Given the description of an element on the screen output the (x, y) to click on. 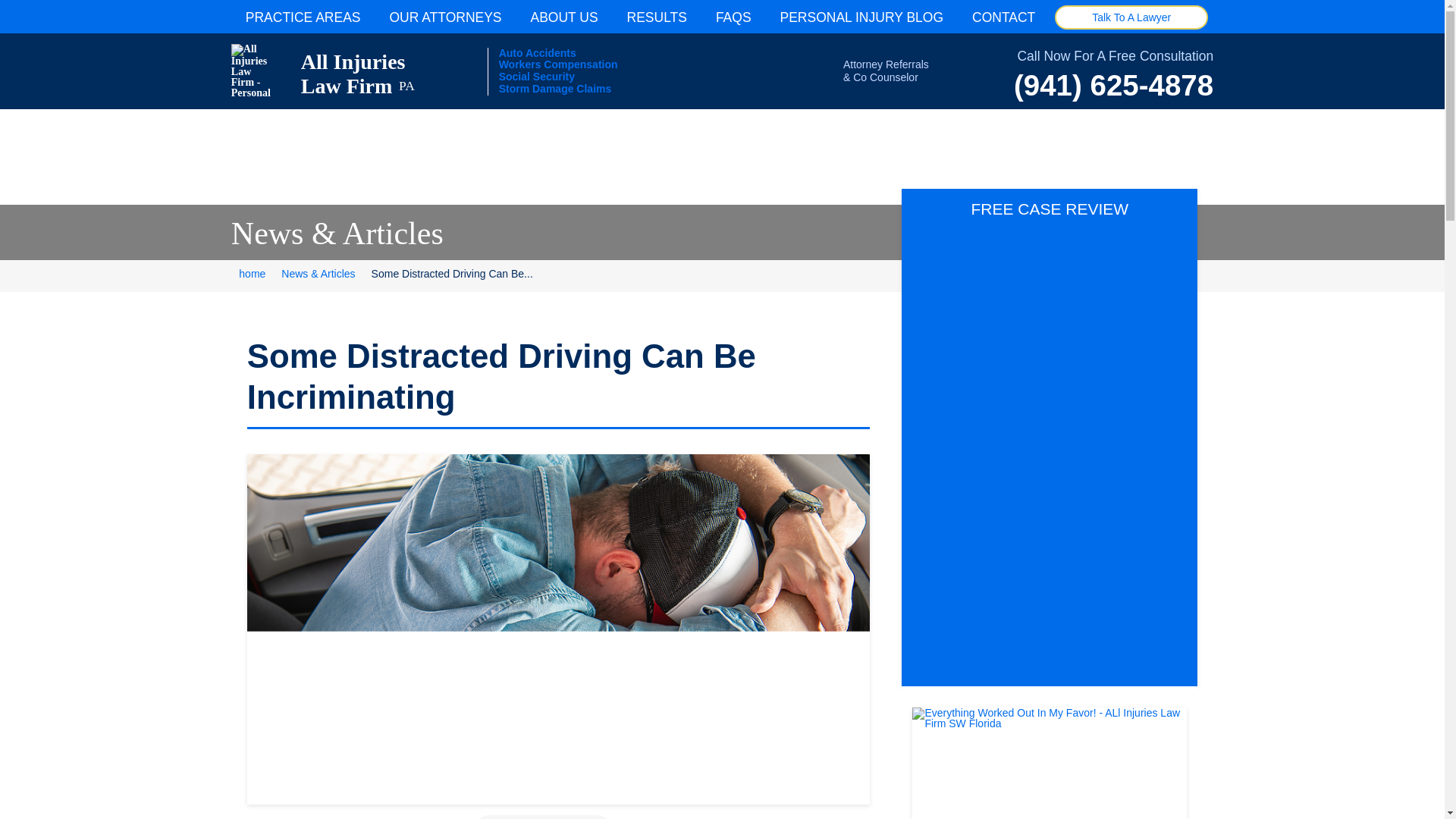
ABOUT US (564, 17)
OUR ATTORNEYS (337, 70)
Some Distracted Driving Can Be... (444, 17)
FAQS (476, 275)
PERSONAL INJURY BLOG (733, 17)
All Injuries Law Firm Home Page (861, 17)
Talk To A Lawyer (337, 70)
RESULTS (1131, 16)
home (656, 17)
PRACTICE AREAS (252, 275)
CONTACT (303, 17)
